Given the description of an element on the screen output the (x, y) to click on. 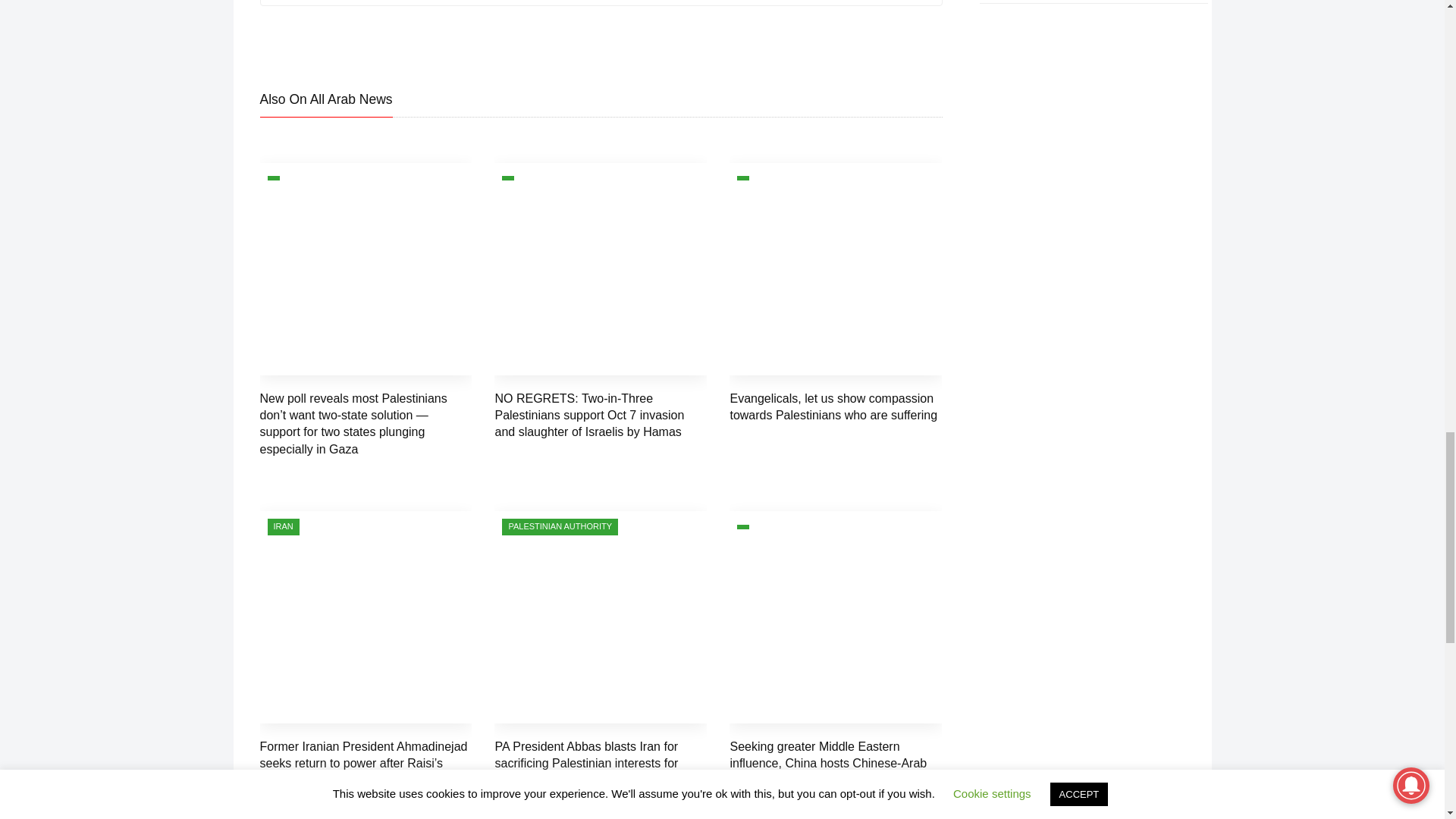
PALESTINIAN AUTHORITY (559, 526)
IRAN (282, 526)
